Given the description of an element on the screen output the (x, y) to click on. 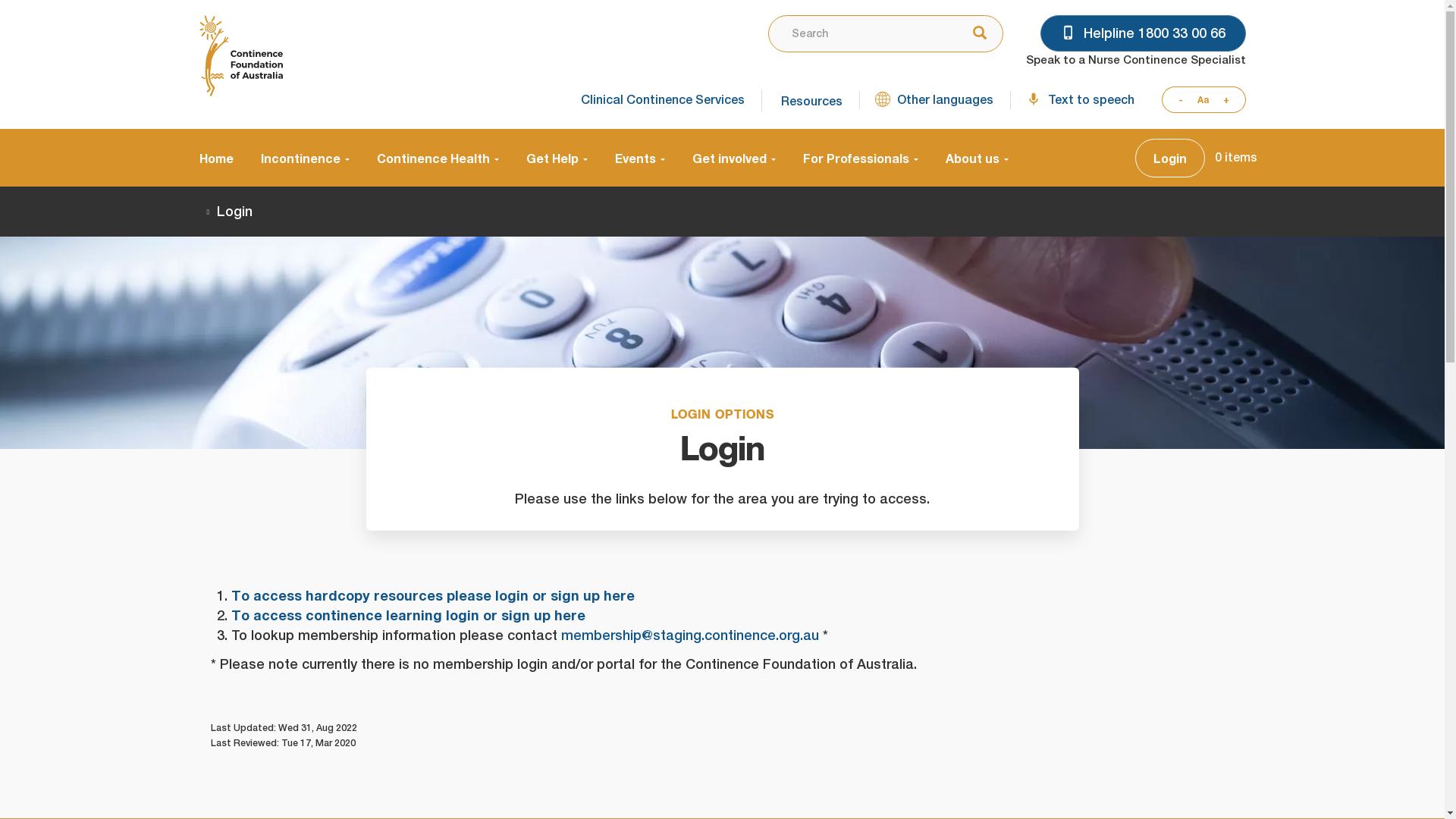
To access continence learning login or sign up here Element type: text (407, 615)
Continence Health Element type: text (436, 157)
Incontinence Element type: text (305, 157)
Resources Element type: text (808, 100)
Get involved Element type: text (732, 157)
Search Element type: text (975, 33)
For Professionals Element type: text (859, 157)
+ Element type: text (1229, 99)
Text to speech Element type: text (1079, 100)
About us Element type: text (969, 157)
Events Element type: text (638, 157)
Home Element type: hover (240, 55)
To access hardcopy resources please login or sign up here Element type: text (431, 594)
Helpline 1800 33 00 66 Element type: text (1142, 33)
Login Element type: text (1169, 157)
Get Help Element type: text (556, 157)
Skip to main content Element type: text (0, 0)
- Element type: text (1175, 99)
Other languages Element type: text (933, 100)
Aa Element type: text (1202, 99)
Home Element type: text (222, 157)
0 items Element type: text (1235, 157)
Clinical Continence Services Element type: text (660, 99)
membership@staging.continence.org.au Element type: text (690, 635)
Enter the terms you wish to search for. Element type: hover (859, 33)
